Given the description of an element on the screen output the (x, y) to click on. 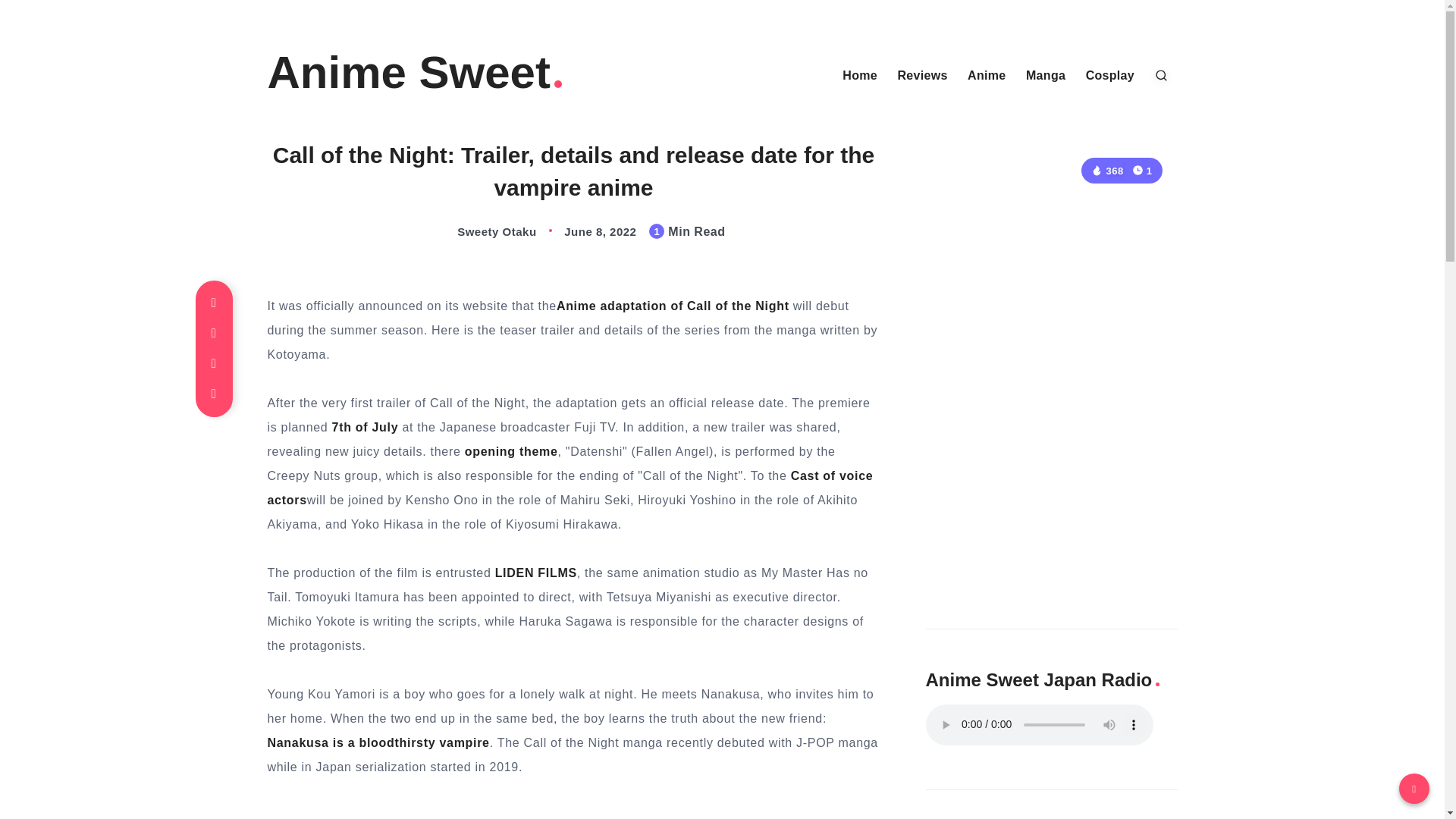
Reviews (921, 75)
Anime Sweet (415, 72)
Manga (1045, 75)
Home (860, 75)
1 Min Read (1142, 170)
Sweety Otaku (481, 231)
Author: Sweety Otaku (481, 231)
368 Views (1106, 170)
Anime (987, 75)
Cosplay (1110, 75)
